Given the description of an element on the screen output the (x, y) to click on. 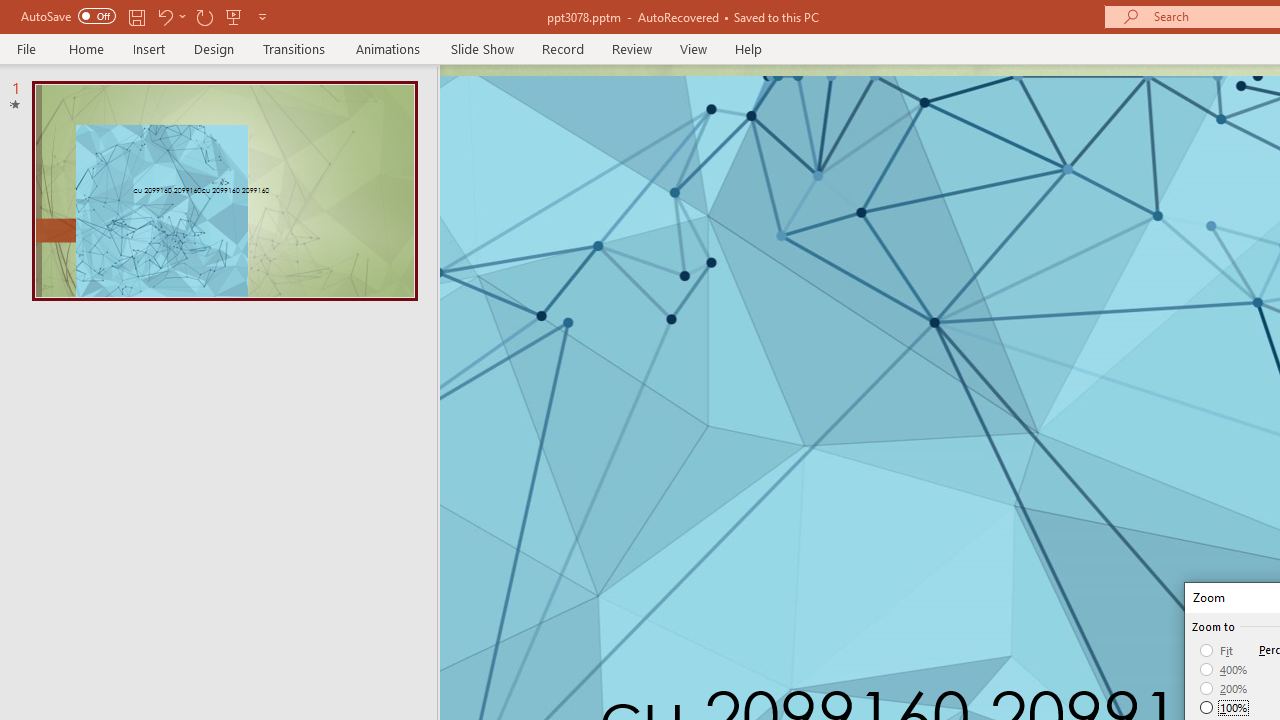
Fit (1217, 650)
